Given the description of an element on the screen output the (x, y) to click on. 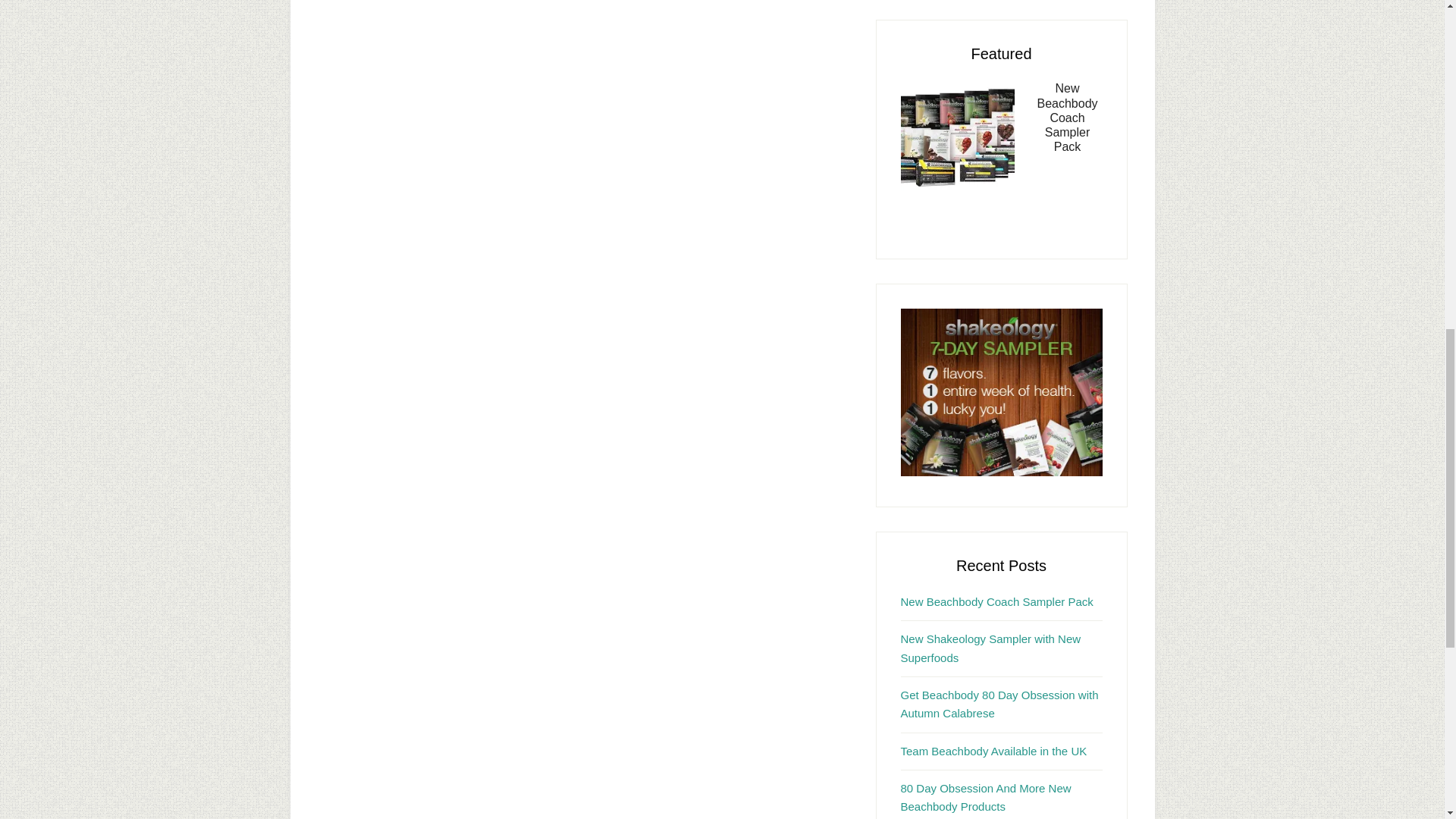
New Beachbody Coach Sampler Pack (997, 601)
Get Beachbody 80 Day Obsession with Autumn Calabrese (1000, 703)
New Beachbody Coach Sampler Pack (1066, 117)
80 Day Obsession And More New Beachbody Products (986, 797)
New Shakeology Sampler with New Superfoods (991, 647)
Team Beachbody Available in the UK (994, 750)
